Given the description of an element on the screen output the (x, y) to click on. 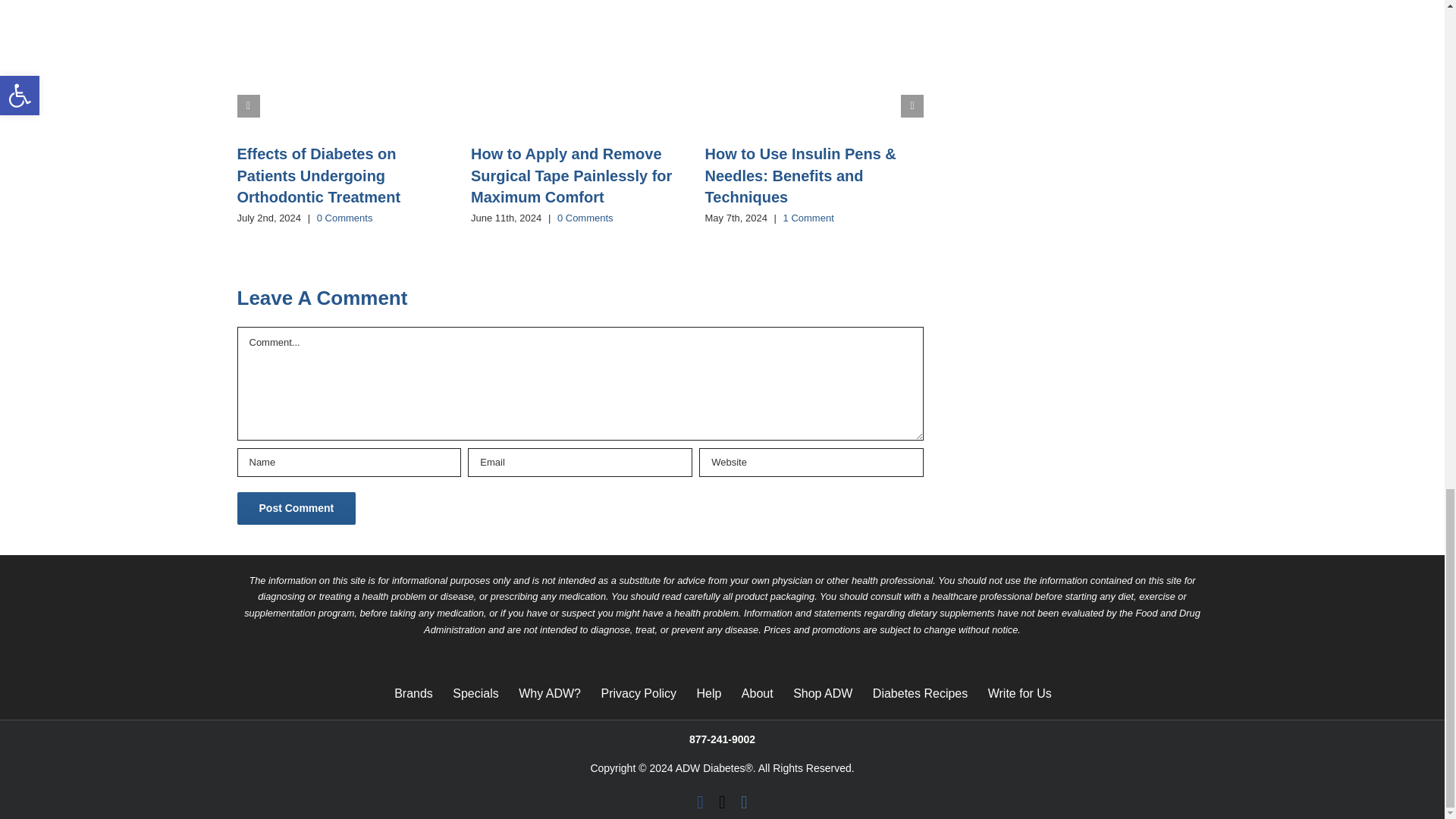
Post Comment (295, 508)
